Given the description of an element on the screen output the (x, y) to click on. 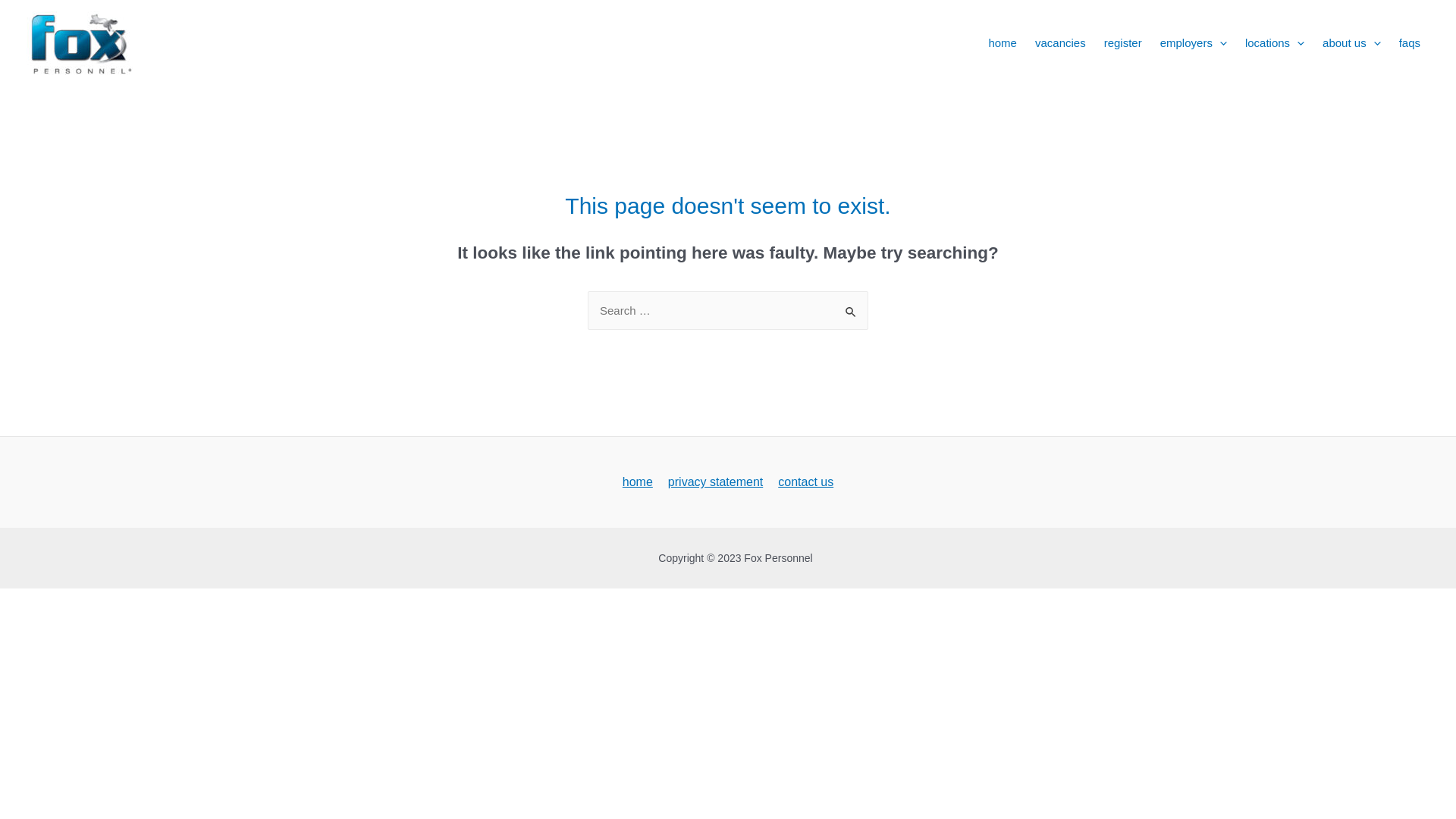
home Element type: text (1002, 42)
home Element type: text (637, 481)
register Element type: text (1123, 42)
privacy statement Element type: text (715, 481)
about us Element type: text (1351, 42)
Search Element type: text (851, 306)
contact us Element type: text (805, 481)
employers Element type: text (1193, 42)
vacancies Element type: text (1060, 42)
locations Element type: text (1274, 42)
faqs Element type: text (1409, 42)
